Given the description of an element on the screen output the (x, y) to click on. 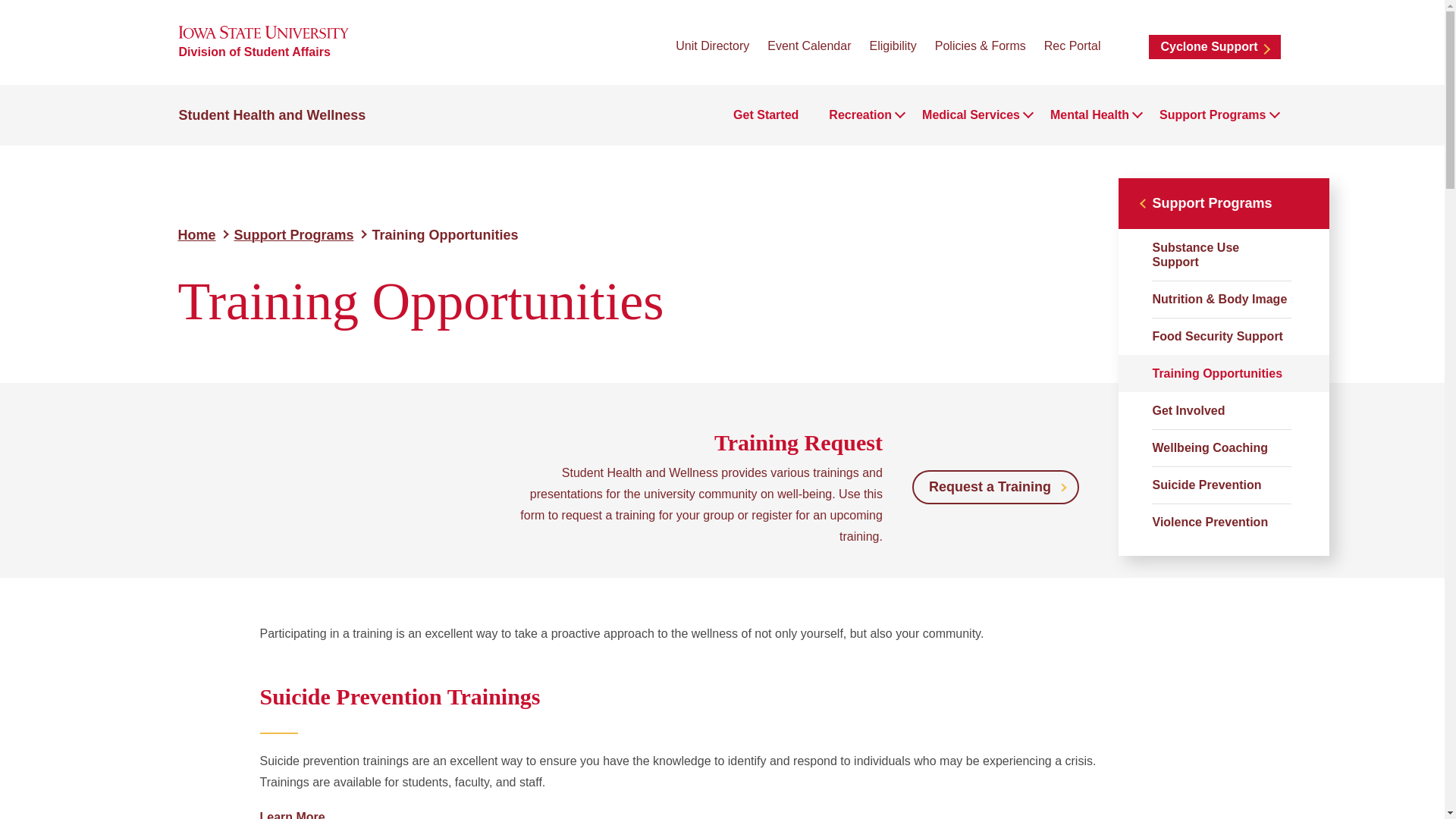
Eligibility (892, 45)
Cyclone Support (1213, 46)
Mental Health (1089, 115)
Medical Services (970, 115)
Get Started (765, 115)
Unit Directory (712, 45)
Event Calendar (808, 45)
Student Health and Wellness (272, 114)
Suicide Prevention (291, 814)
Recreation (859, 115)
Rec Portal (1071, 45)
Search (1124, 45)
Division of Student Affairs (254, 51)
